Given the description of an element on the screen output the (x, y) to click on. 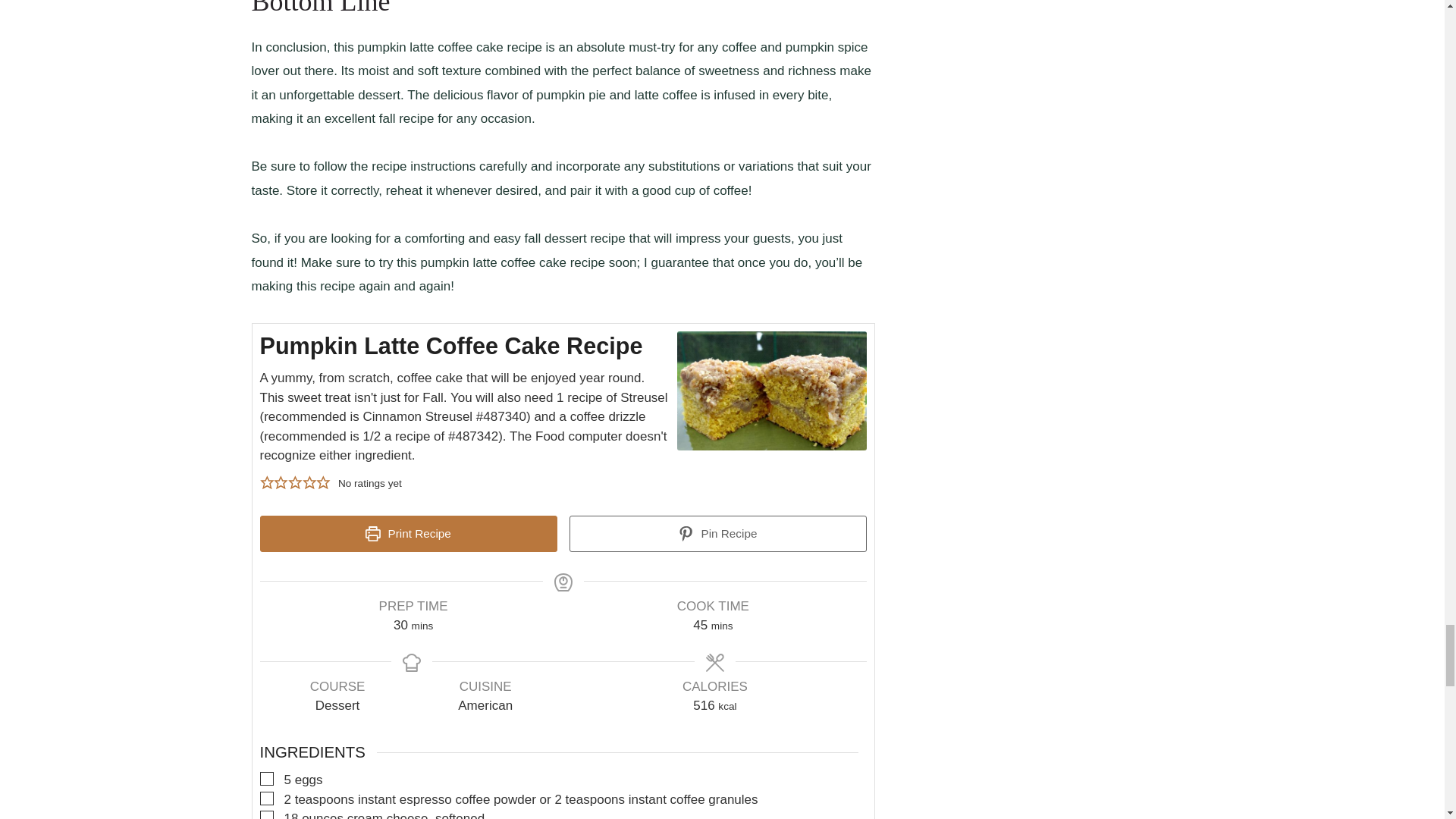
Pin Recipe (717, 533)
Print Recipe (407, 533)
